Given the description of an element on the screen output the (x, y) to click on. 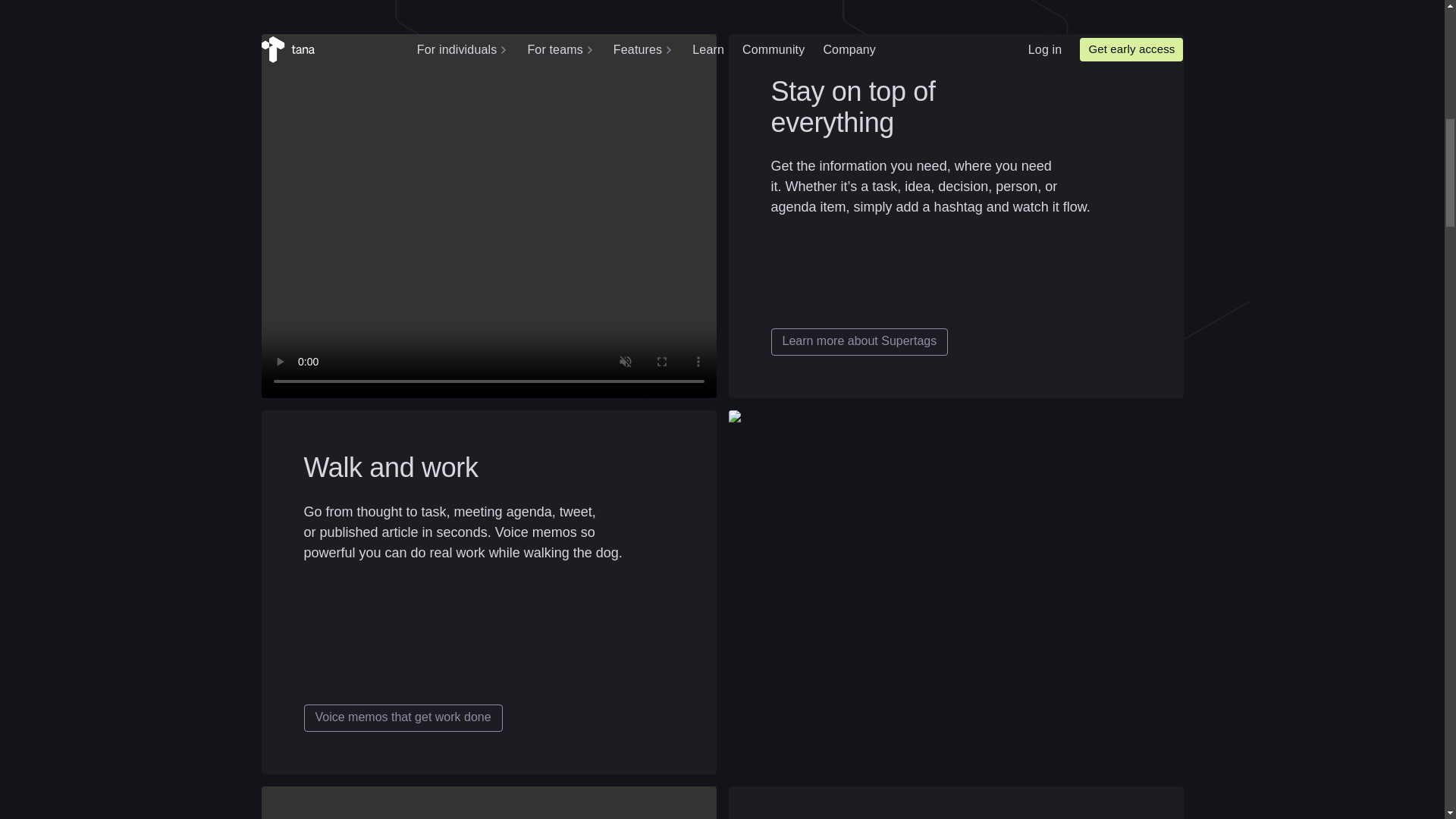
Learn more about Supertags (858, 341)
Voice memos that get work done (402, 718)
